Given the description of an element on the screen output the (x, y) to click on. 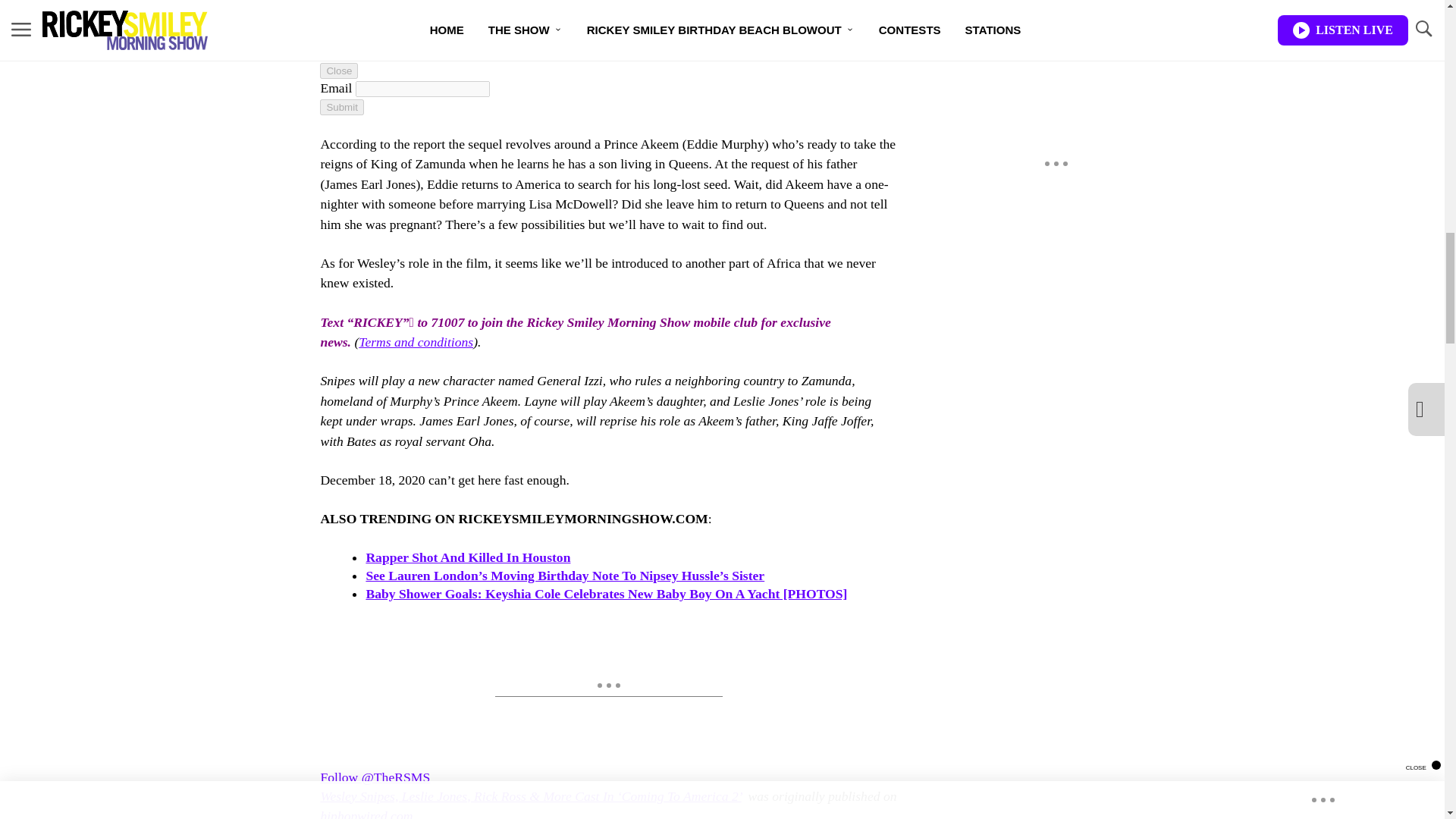
hiphopwired.com (366, 813)
Rapper Shot And Killed In Houston (467, 557)
Submit (341, 107)
Close (339, 70)
Terms and conditions (415, 341)
